Given the description of an element on the screen output the (x, y) to click on. 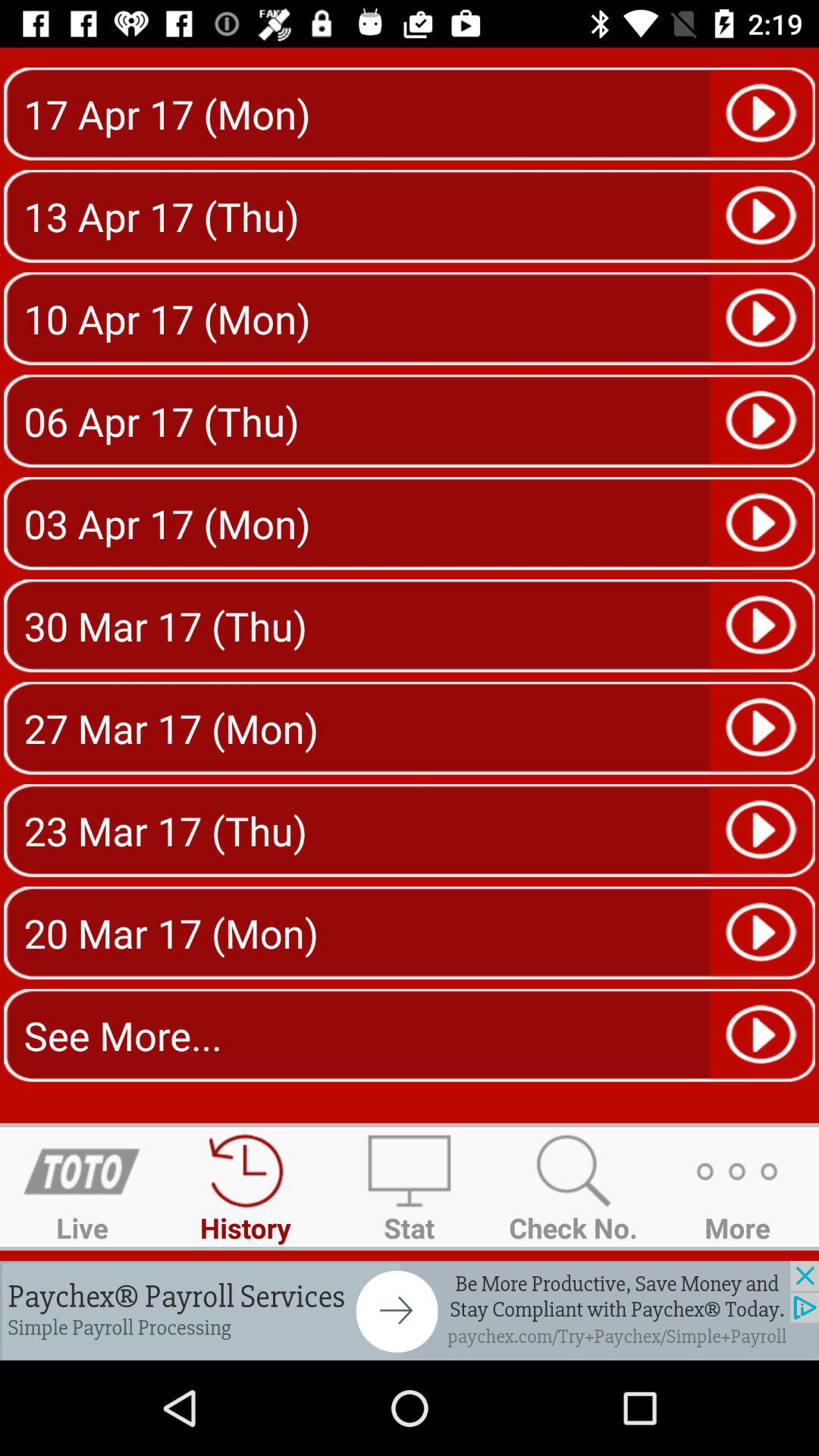
payroll services (409, 1310)
